Given the description of an element on the screen output the (x, y) to click on. 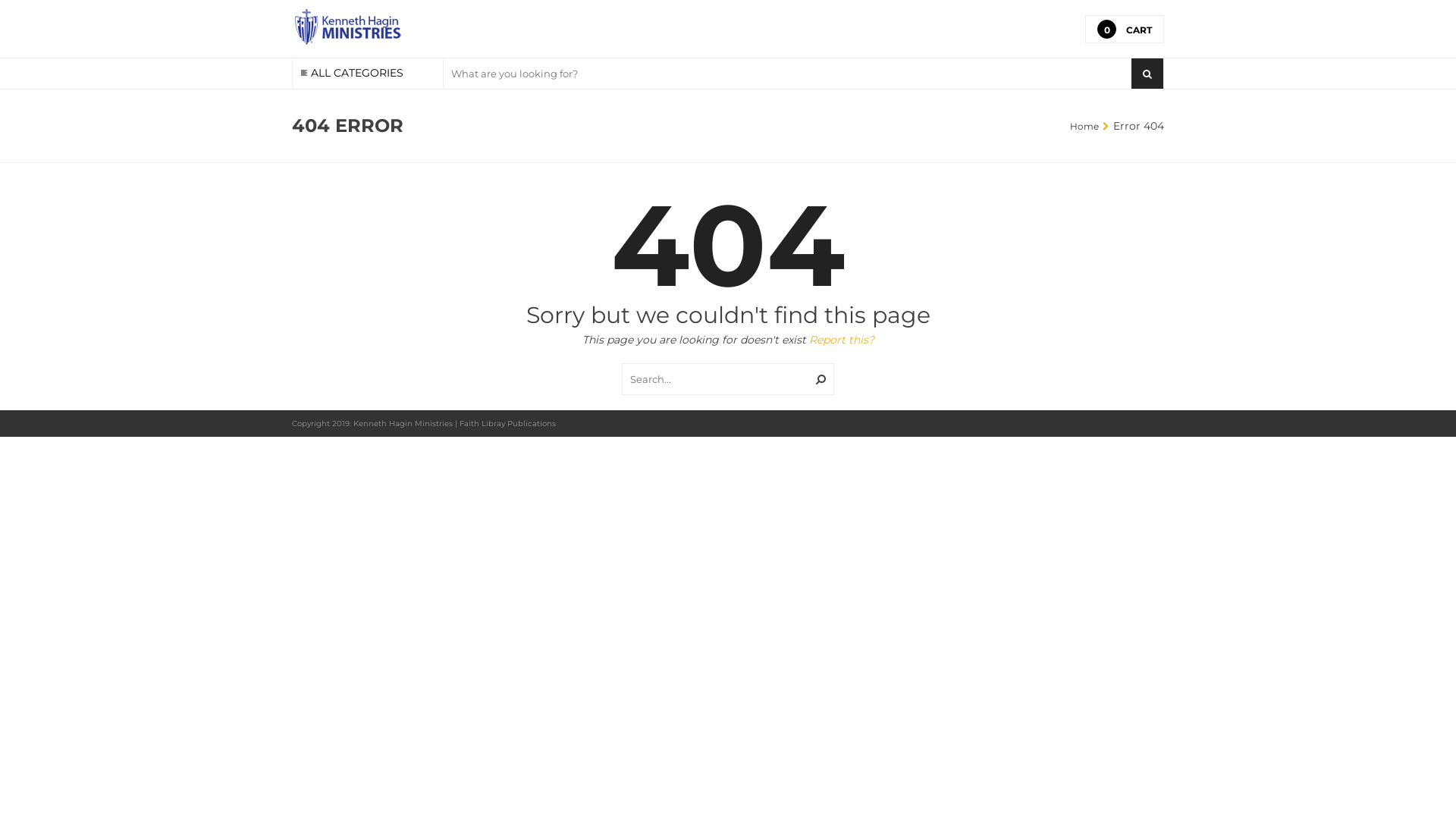
Home Element type: text (1084, 125)
ALL CATEGORIES Element type: text (367, 73)
Search product Element type: hover (787, 73)
Report this? Element type: text (840, 339)
0 Element type: text (1106, 28)
